Given the description of an element on the screen output the (x, y) to click on. 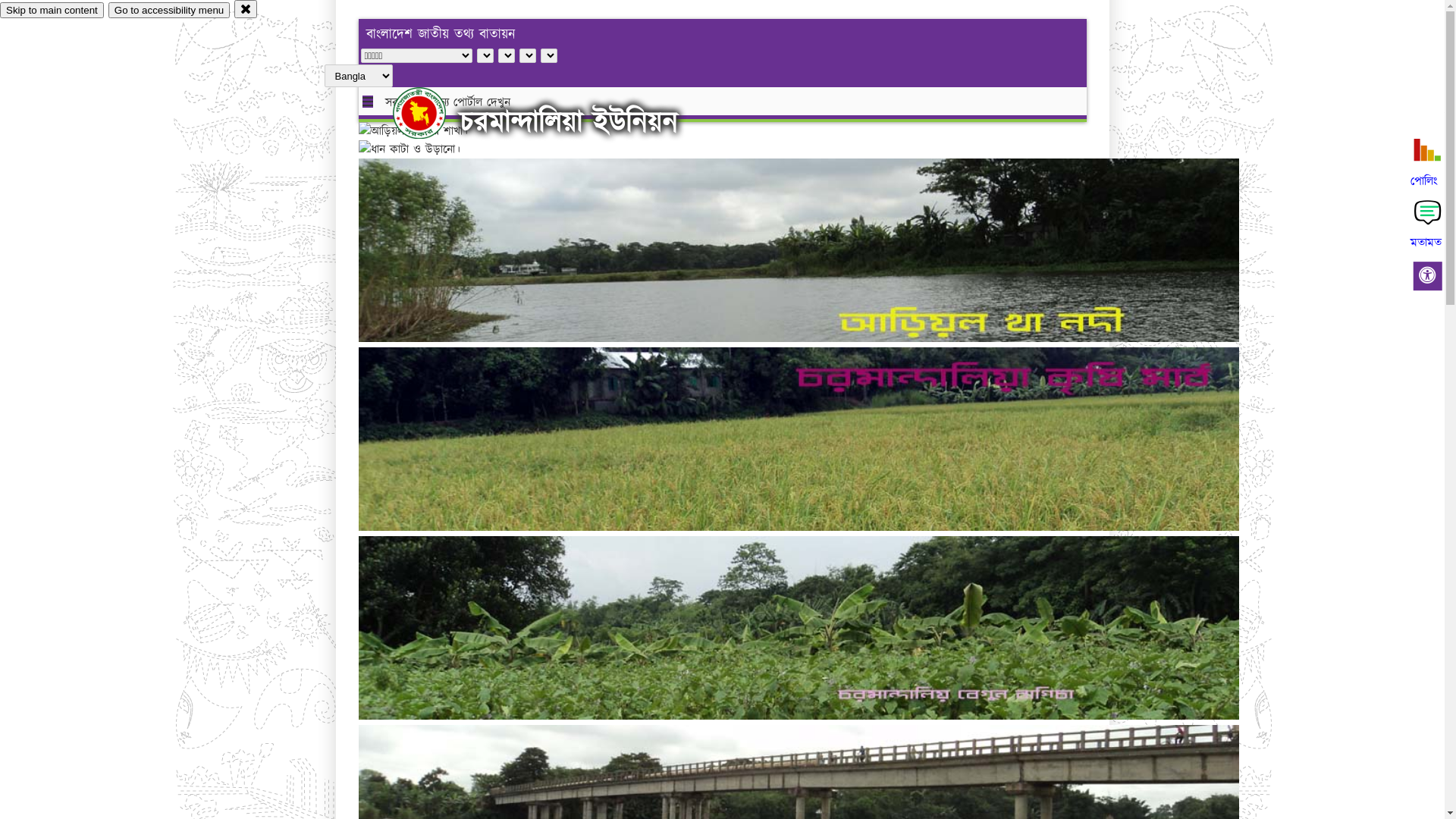
Go to accessibility menu Element type: text (168, 10)
close Element type: hover (245, 9)

                
             Element type: hover (431, 112)
Skip to main content Element type: text (51, 10)
